Given the description of an element on the screen output the (x, y) to click on. 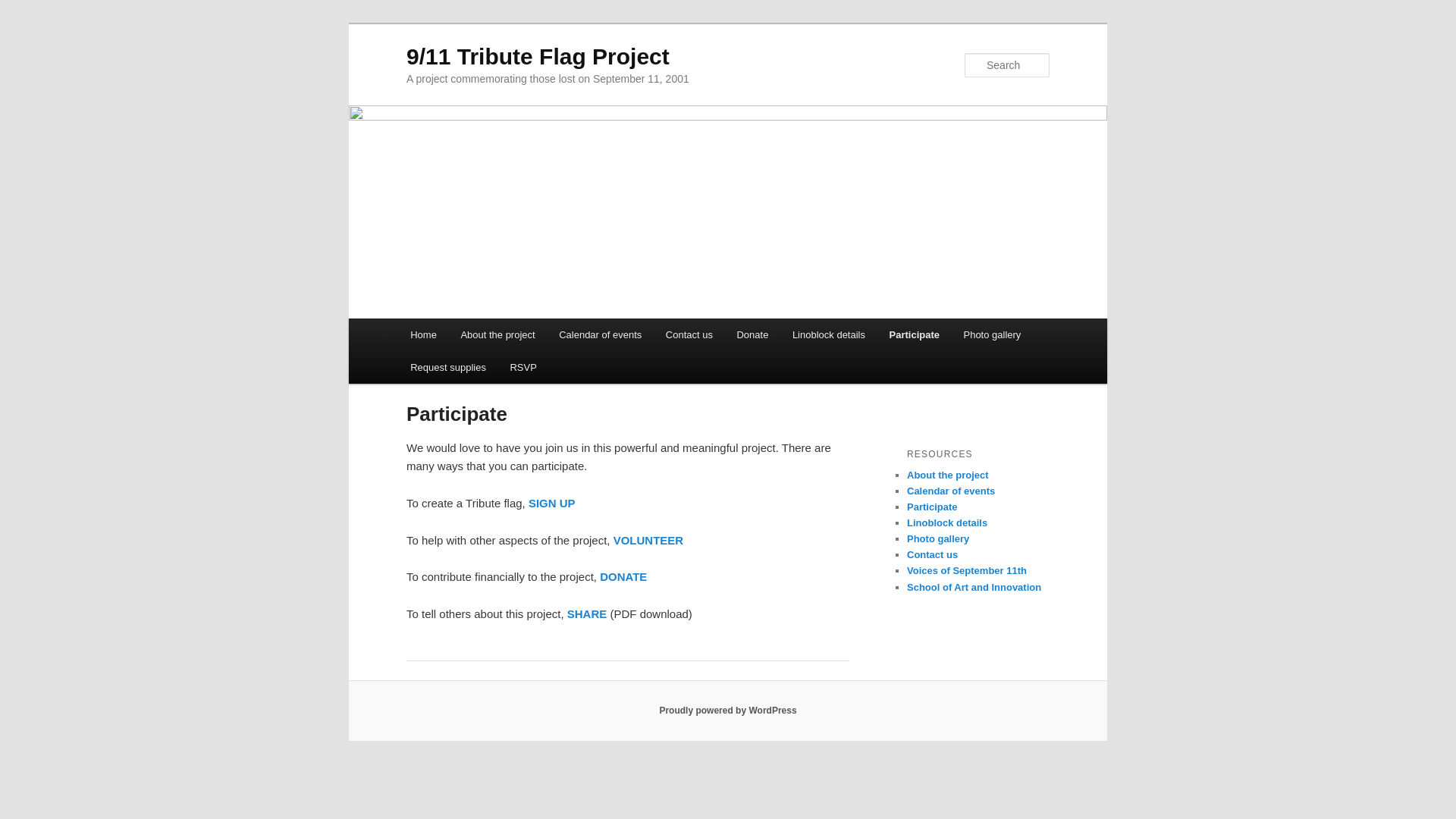
About the project (947, 474)
Semantic Personal Publishing Platform (727, 710)
Skip to primary content (478, 337)
Skip to secondary content (485, 337)
Contact us (689, 334)
SIGN UP (551, 502)
SHARE (587, 613)
Home (422, 334)
Contact us (932, 554)
School of Art and Innovation (974, 586)
VOLUNTEER (648, 540)
Participate (587, 613)
Donate (622, 576)
Participate (931, 506)
Search (24, 8)
